Given the description of an element on the screen output the (x, y) to click on. 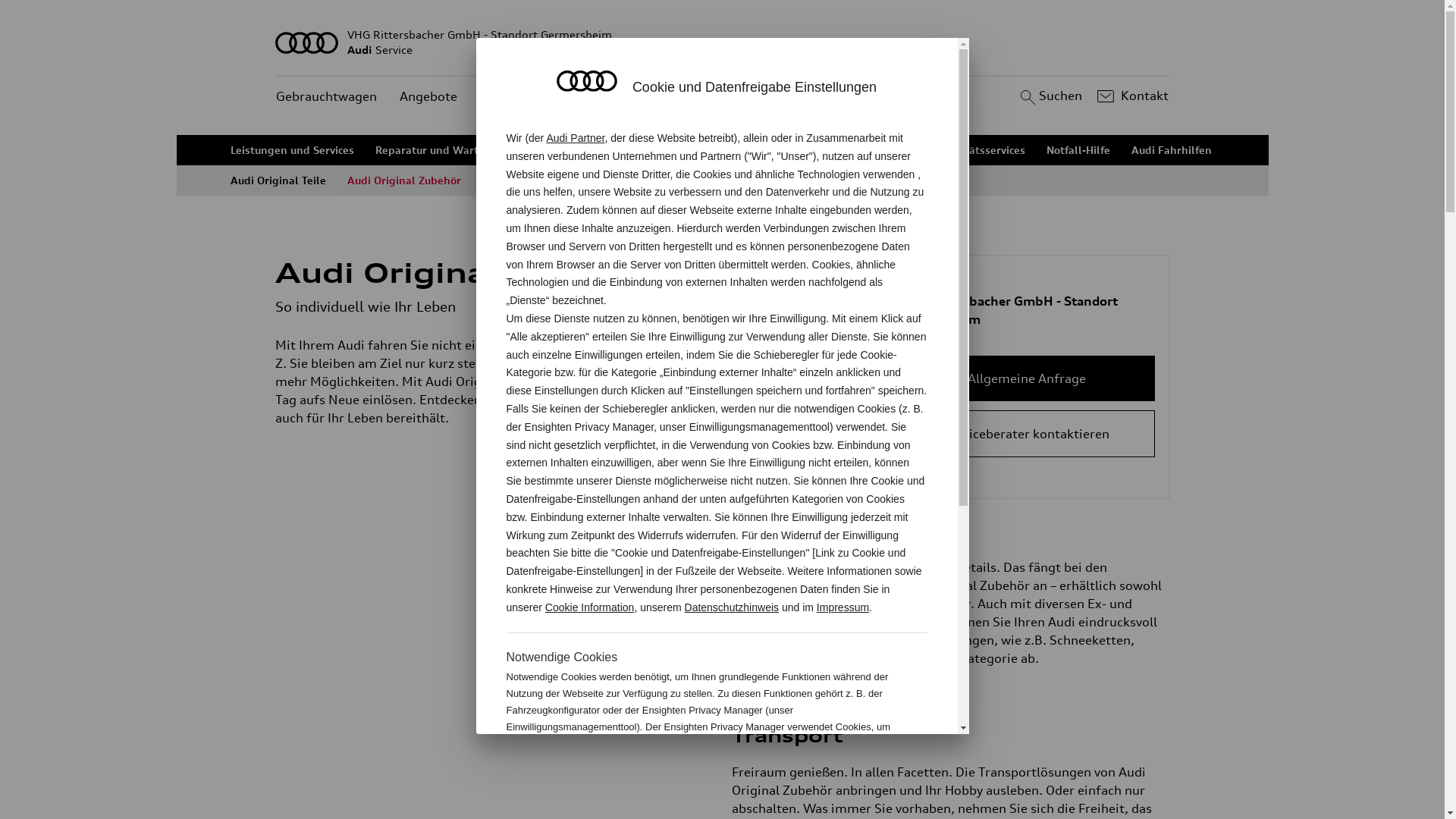
Suchen Element type: text (1049, 96)
Gebrauchtwagen Element type: text (326, 96)
Versicherungen Element type: text (805, 149)
Serviceberater kontaktieren Element type: text (1025, 433)
Leistungen und Services Element type: text (291, 149)
Kundenservice Element type: text (523, 96)
Angebote Element type: text (428, 96)
Ihre Ansprechpartner Element type: text (688, 149)
Garantie Element type: text (889, 149)
Cookie Information Element type: text (847, 776)
Notfall-Hilfe Element type: text (1077, 149)
Audi Fahrhilfen Element type: text (1171, 149)
Impressum Element type: text (842, 607)
Audi Partner Element type: text (575, 137)
Reparatur und Wartung Element type: text (436, 149)
VHG Rittersbacher GmbH - Standort Germersheim
AudiService Element type: text (722, 42)
Datenschutzhinweis Element type: text (731, 607)
Allgemeine Anfrage Element type: text (1025, 378)
Cookie Information Element type: text (589, 607)
Kontakt Element type: text (1130, 96)
Audi Shopping World Element type: text (537, 180)
Audi Original Teile Element type: text (277, 180)
